Given the description of an element on the screen output the (x, y) to click on. 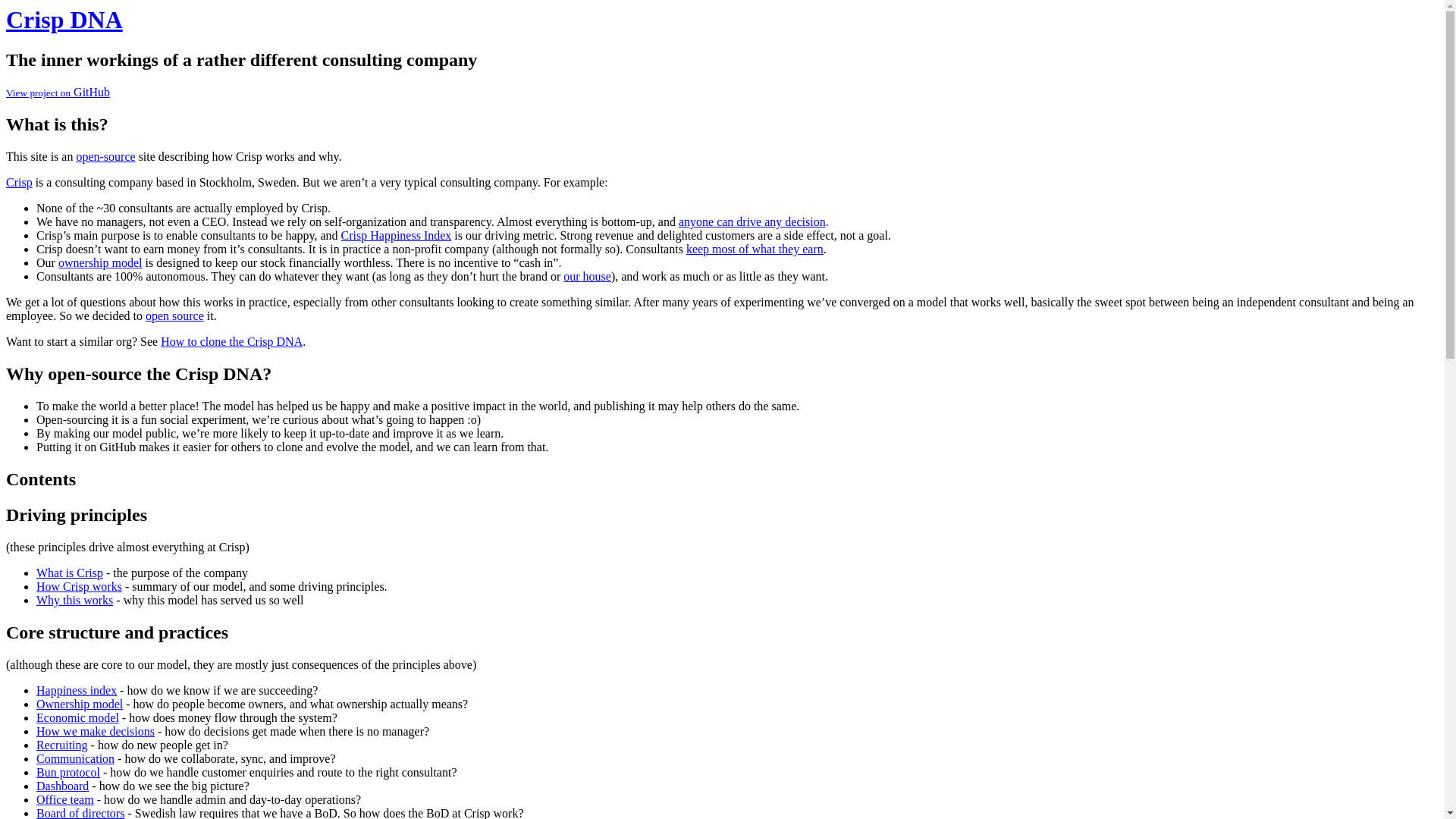
View project on GitHub (57, 91)
How to clone the Crisp DNA (231, 341)
our house (587, 276)
Why this works (74, 599)
Economic model (77, 717)
Bun protocol (68, 771)
What is Crisp (69, 572)
How we make decisions (95, 730)
Dashboard (62, 785)
Recruiting (61, 744)
